Given the description of an element on the screen output the (x, y) to click on. 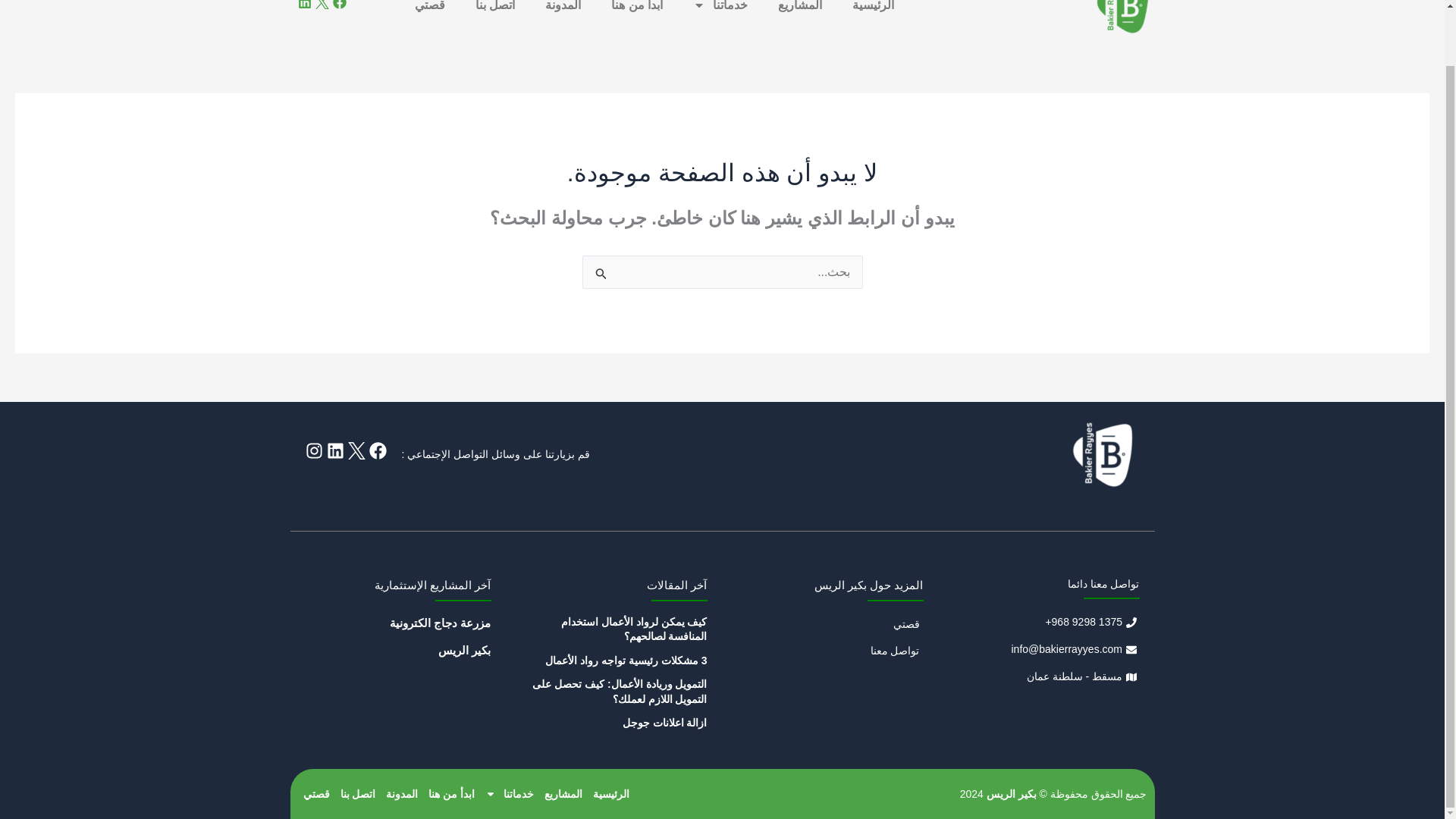
Linkedin (304, 4)
Facebook (376, 450)
Facebook (338, 4)
Instagram (312, 450)
Linkedin (334, 450)
